Given the description of an element on the screen output the (x, y) to click on. 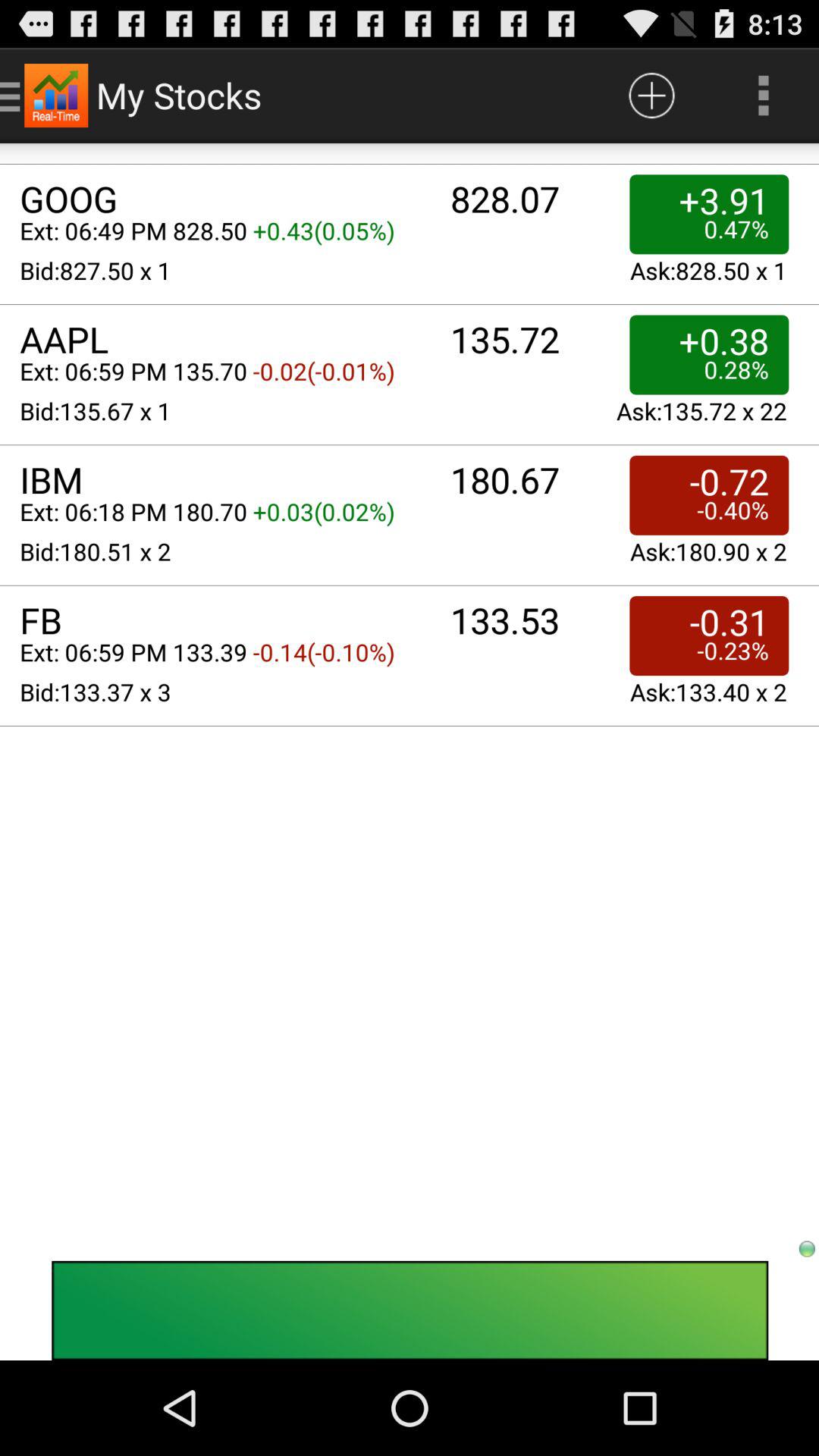
add stock (651, 95)
